Given the description of an element on the screen output the (x, y) to click on. 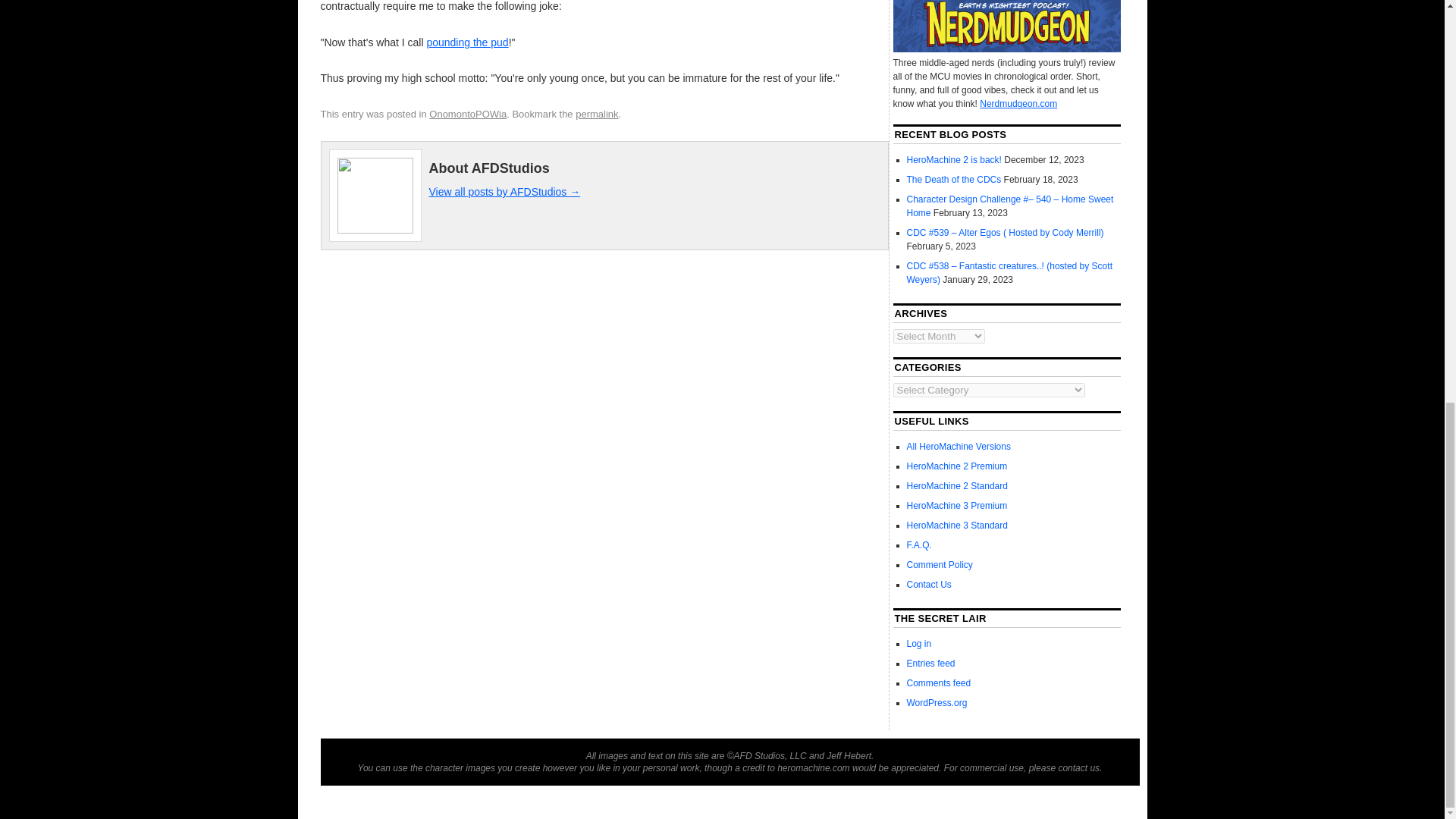
HeroMachine 2 is back! (954, 159)
Nerdmudgeon.com (1018, 103)
HeroMachine 2 Standard (957, 485)
HeroMachine 2 Premium (957, 466)
pounding the pud (467, 42)
OnomontoPOWia (467, 113)
permalink (596, 113)
F.A.Q. (919, 544)
HeroMachine 3 Standard (957, 525)
All HeroMachine Versions (958, 446)
The Death of the CDCs (954, 179)
Comment Policy (939, 564)
HeroMachine 3 Premium (957, 505)
